Given the description of an element on the screen output the (x, y) to click on. 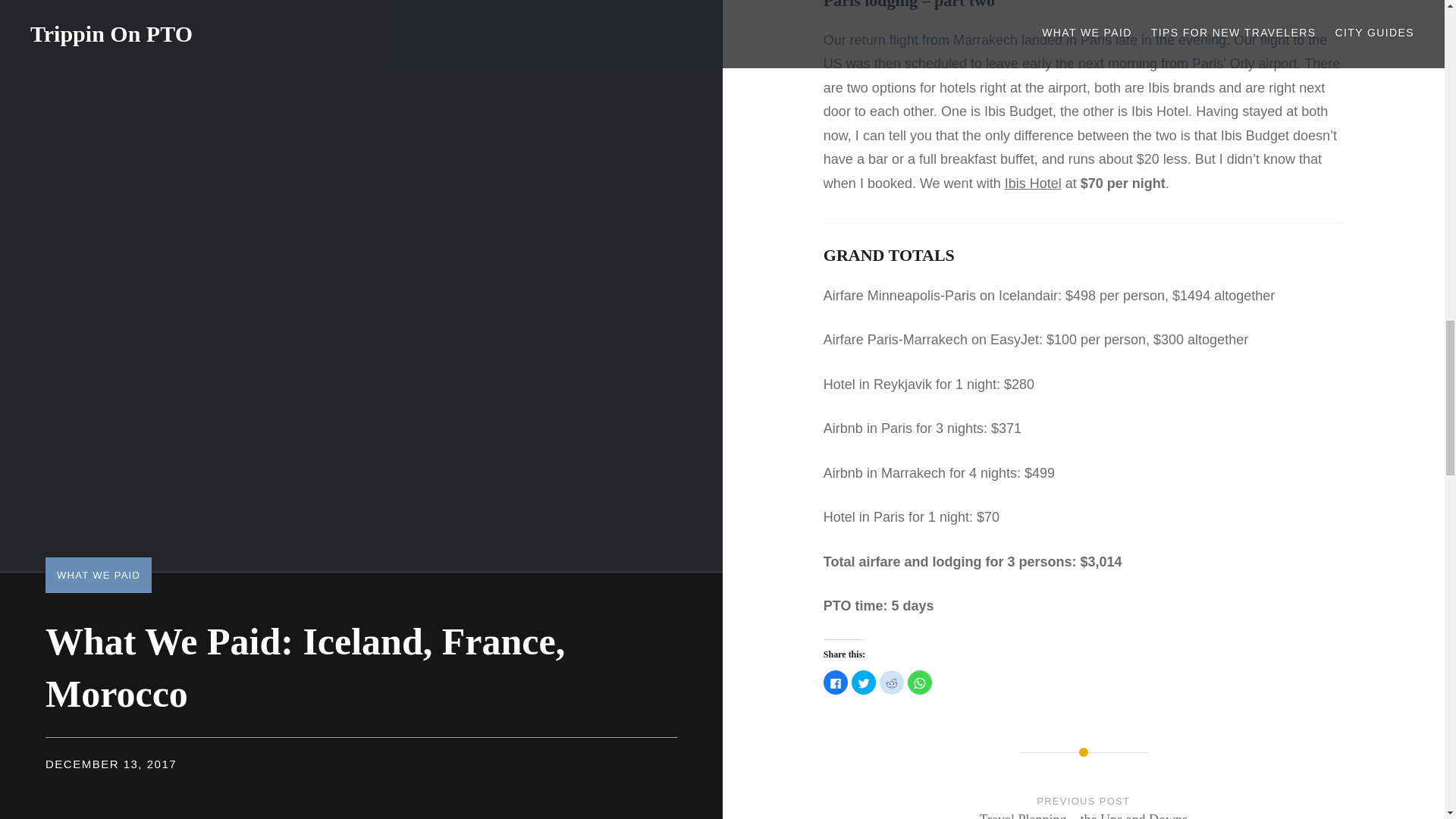
Ibis Hotel (1032, 183)
Click to share on Reddit (891, 682)
Click to share on Twitter (863, 682)
Click to share on Facebook (835, 682)
Click to share on WhatsApp (919, 682)
